Given the description of an element on the screen output the (x, y) to click on. 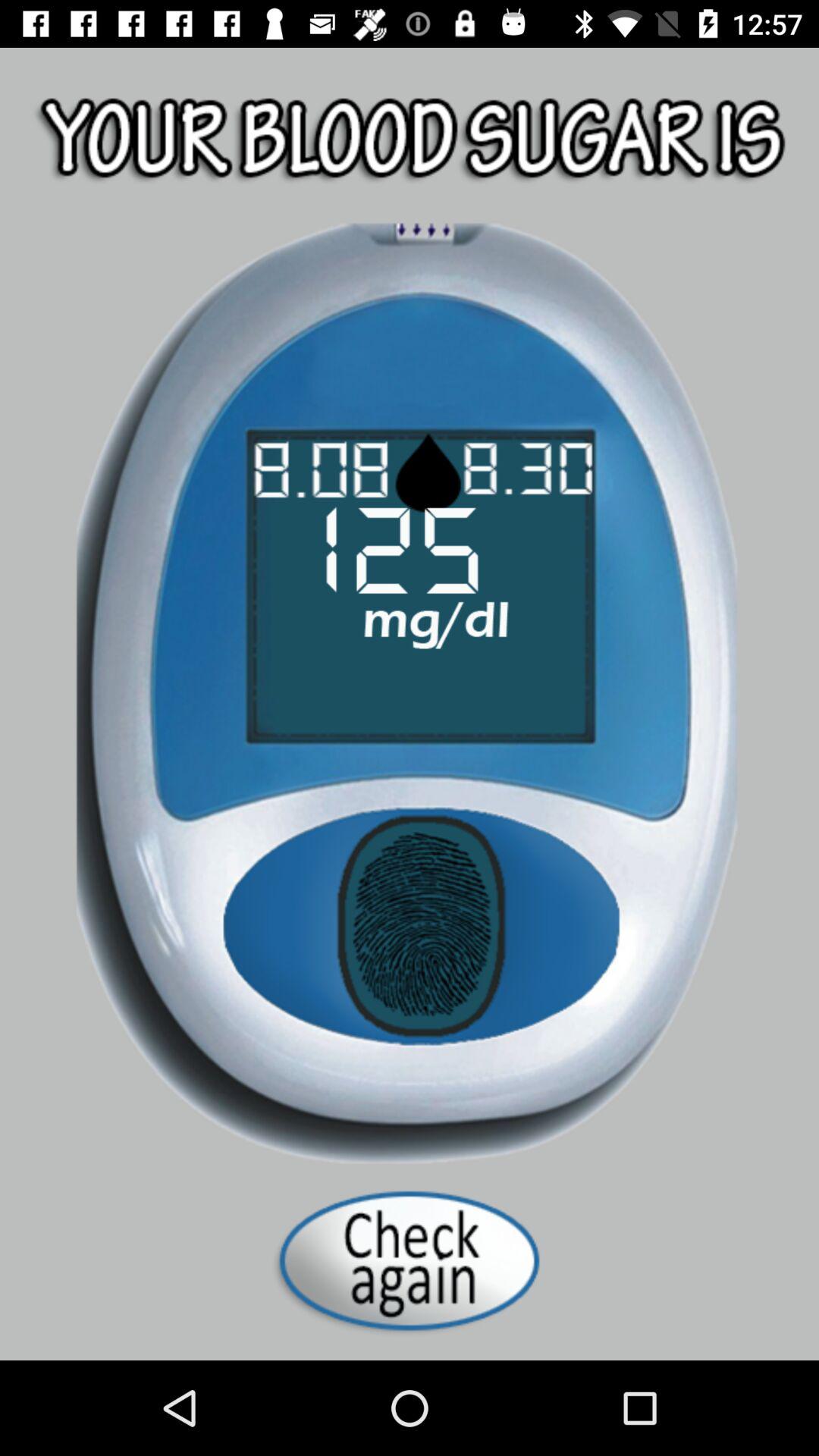
check again (409, 1260)
